Given the description of an element on the screen output the (x, y) to click on. 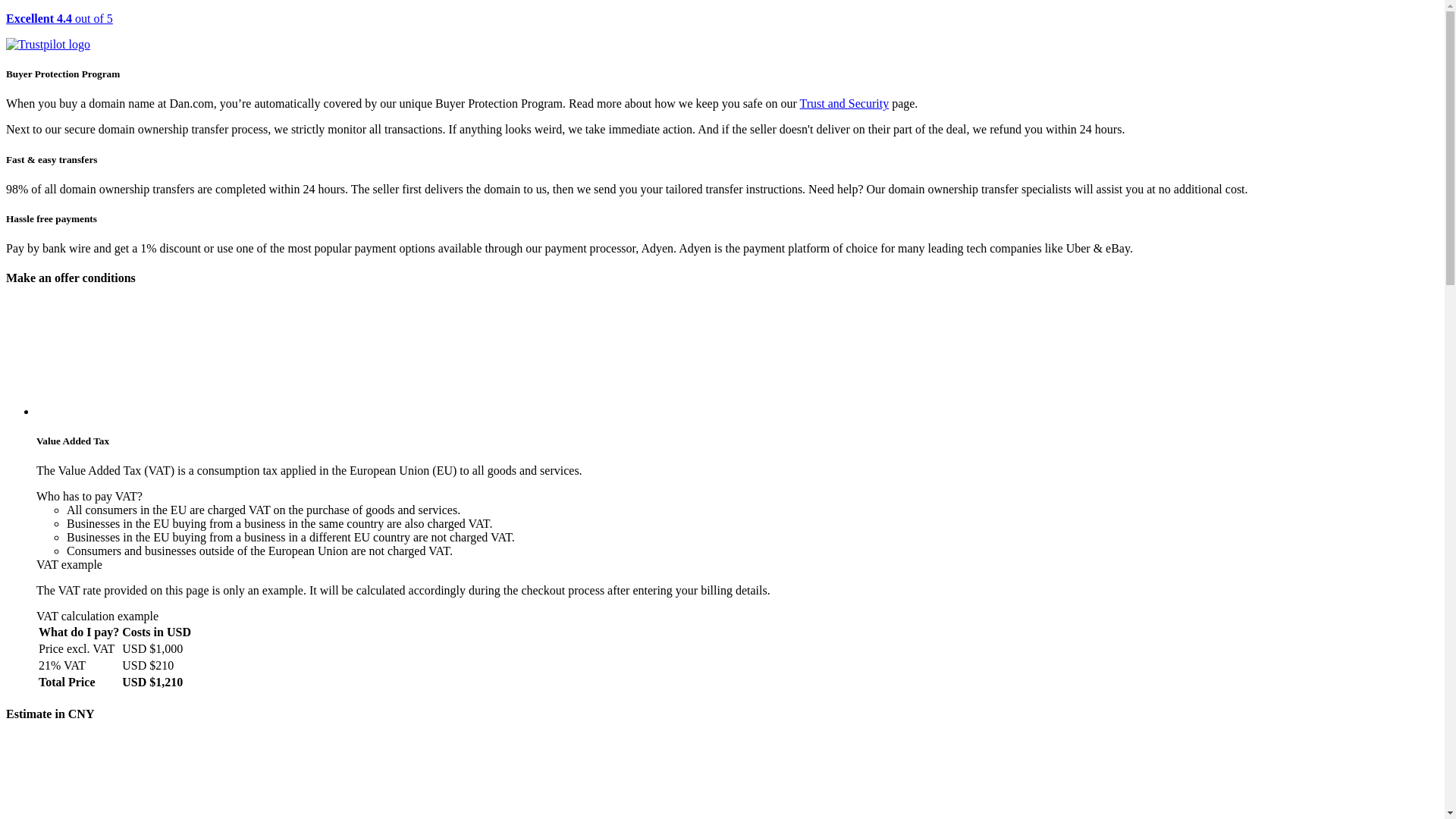
Trust and Security Element type: text (844, 103)
Excellent 4.4 out of 5 Element type: text (722, 31)
